Given the description of an element on the screen output the (x, y) to click on. 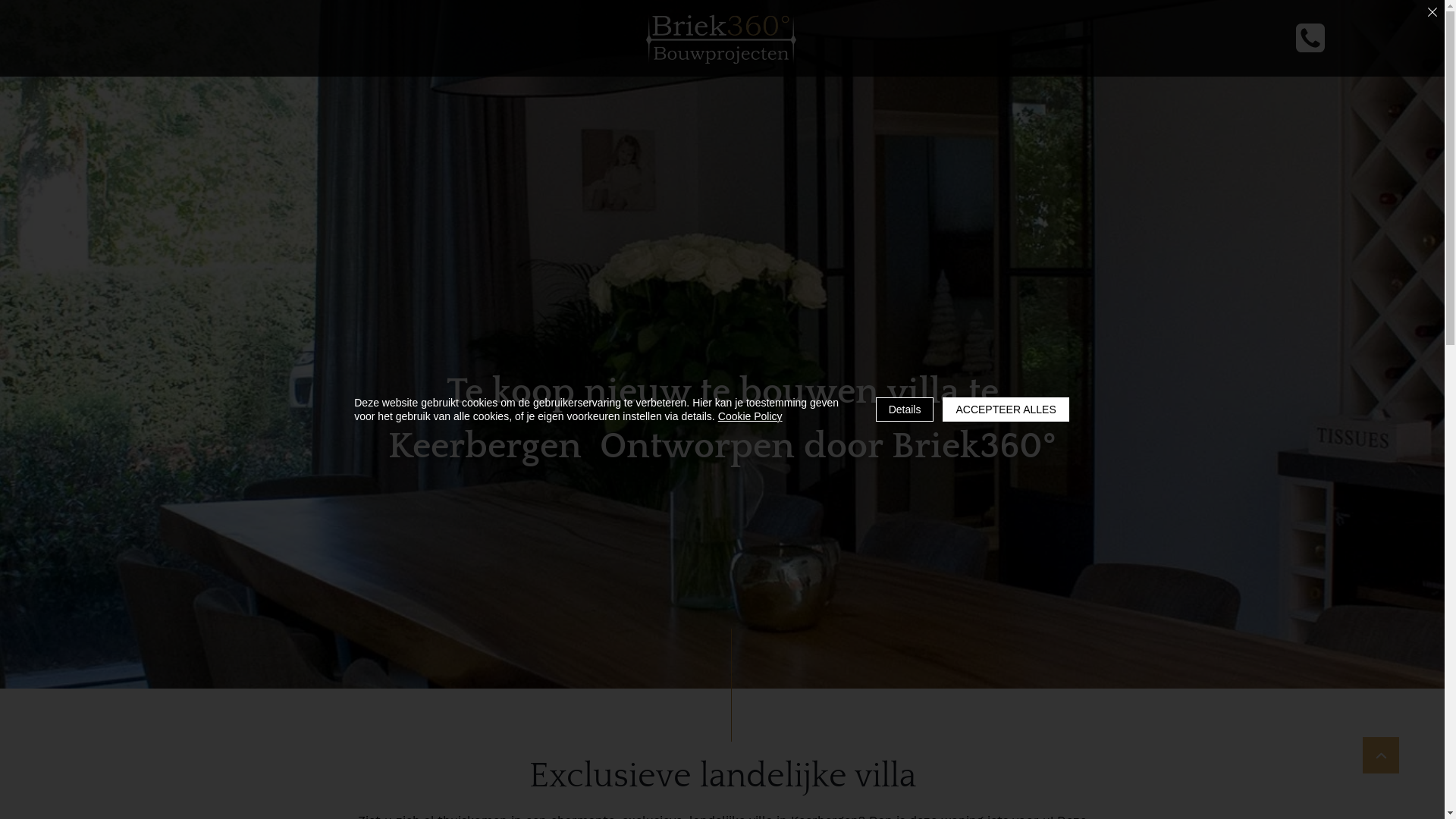
ACCEPTEER ALLES Element type: text (1005, 409)
Details Element type: text (904, 409)
Cookie Policy Element type: text (750, 416)
